Given the description of an element on the screen output the (x, y) to click on. 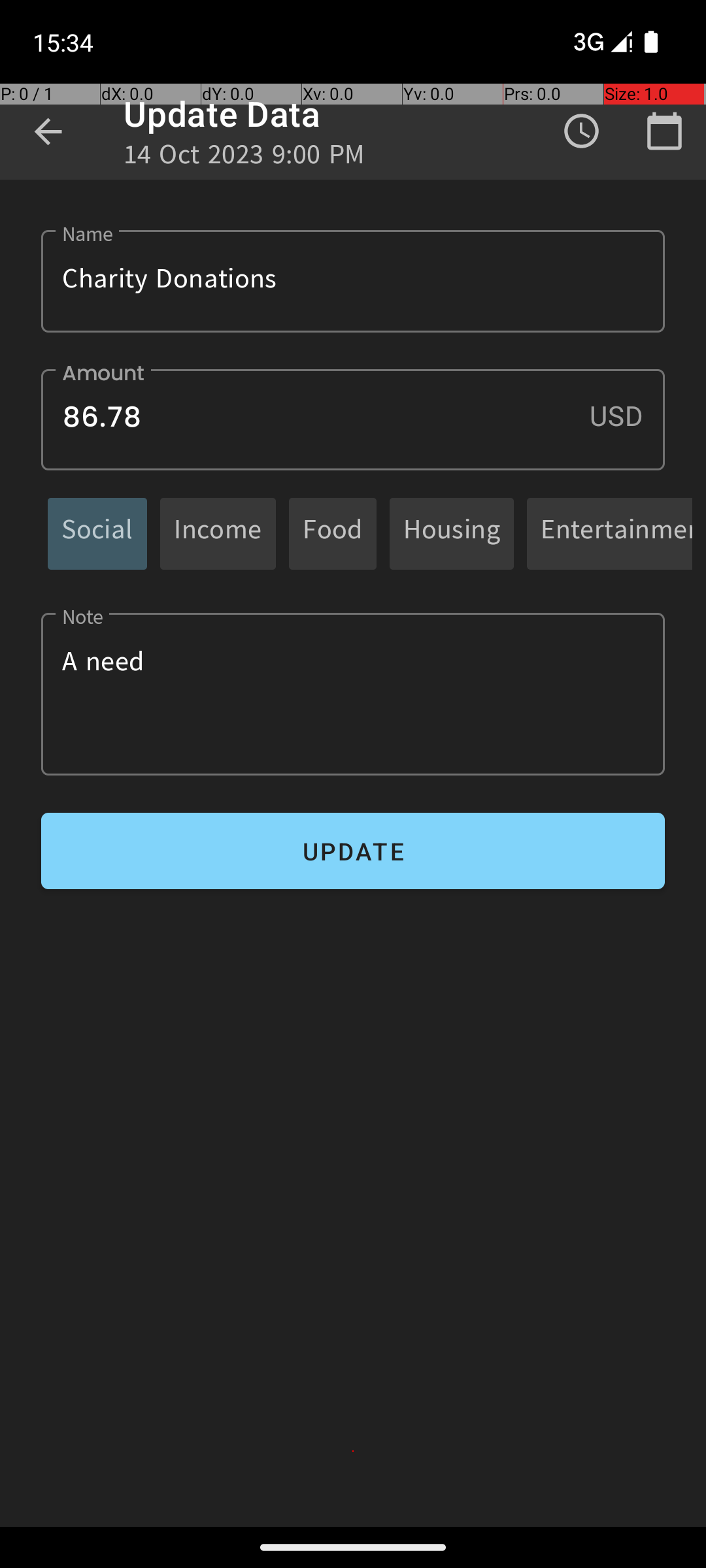
14 Oct 2023 9:00 PM Element type: android.widget.TextView (244, 157)
Charity Donations Element type: android.widget.EditText (352, 280)
86.78 Element type: android.widget.EditText (352, 419)
A need Element type: android.widget.EditText (352, 693)
